Given the description of an element on the screen output the (x, y) to click on. 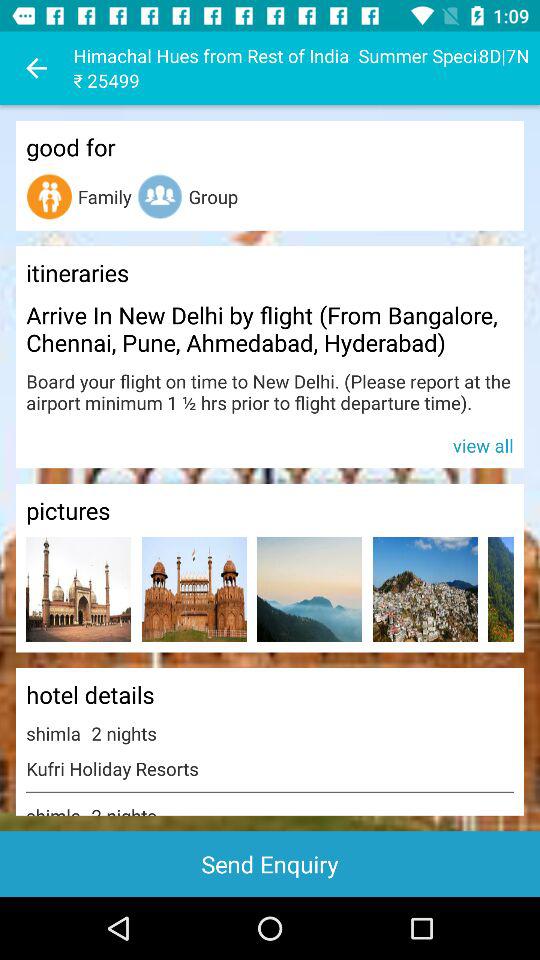
turn on item below pictures (424, 588)
